Given the description of an element on the screen output the (x, y) to click on. 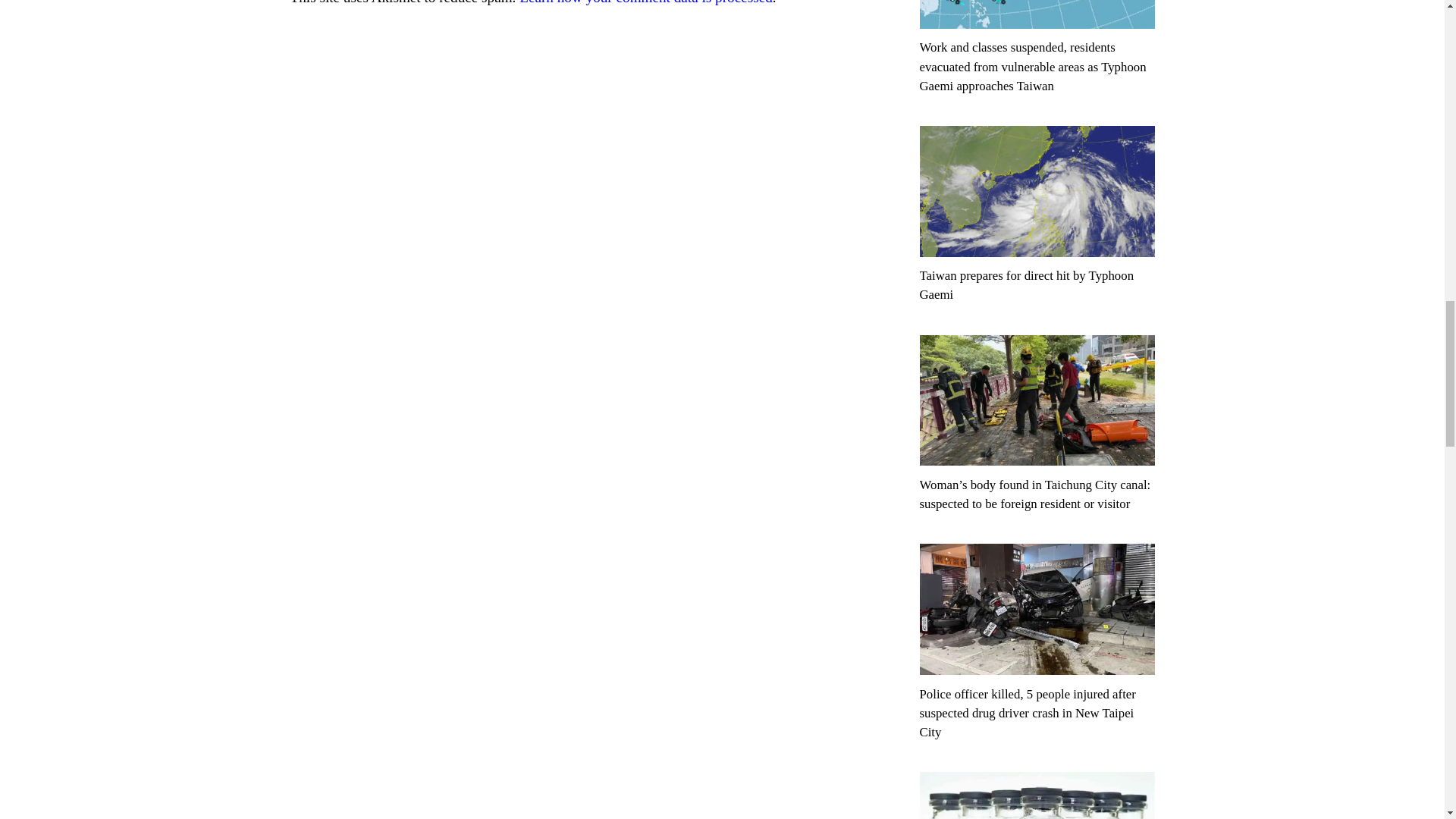
Learn how your comment data is processed (646, 2)
